Given the description of an element on the screen output the (x, y) to click on. 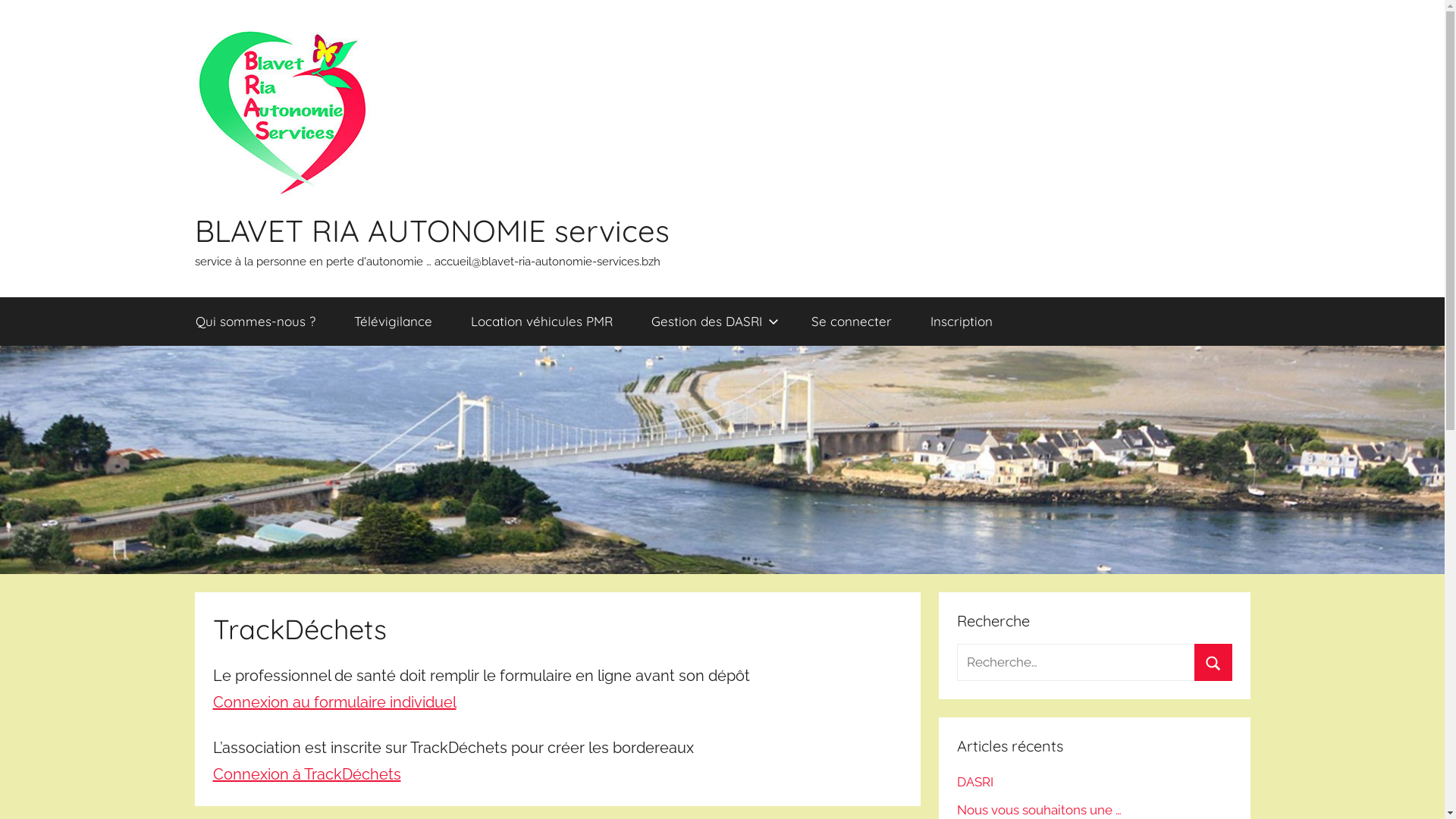
DASRI Element type: text (975, 781)
Qui sommes-nous ? Element type: text (254, 321)
Se connecter Element type: text (850, 321)
Connexion au formulaire individuel Element type: text (333, 702)
Recherche pour : Element type: hover (1094, 661)
Inscription Element type: text (961, 321)
BLAVET RIA AUTONOMIE services Element type: text (431, 229)
Gestion des DASRI Element type: text (712, 321)
